Given the description of an element on the screen output the (x, y) to click on. 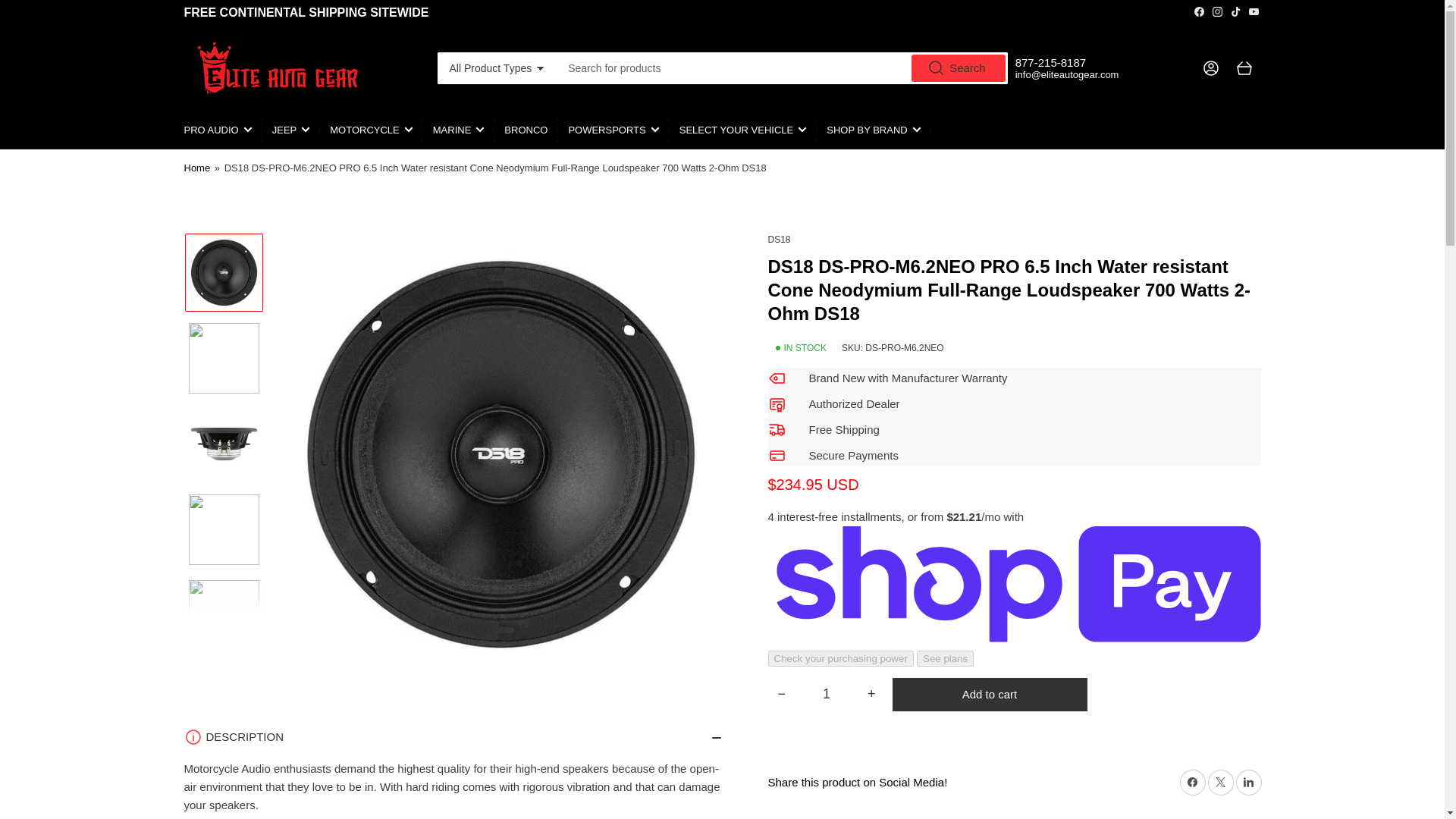
TikTok (1235, 11)
Log in (1210, 68)
Search (958, 68)
Open mini cart (1243, 68)
Facebook (1199, 11)
YouTube (1253, 11)
1 (825, 694)
Instagram (1216, 11)
